Given the description of an element on the screen output the (x, y) to click on. 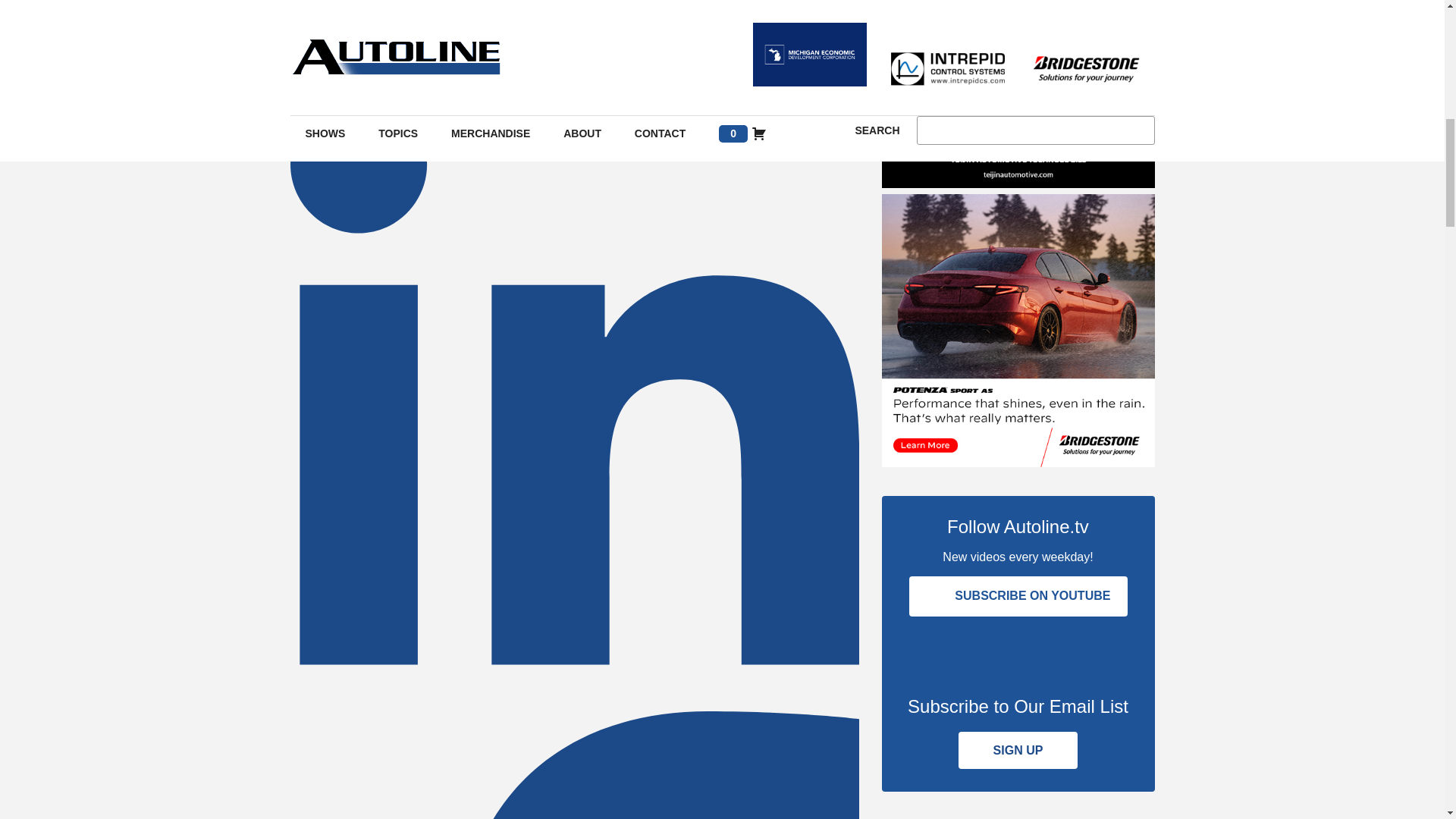
Linkedin (574, 700)
